Given the description of an element on the screen output the (x, y) to click on. 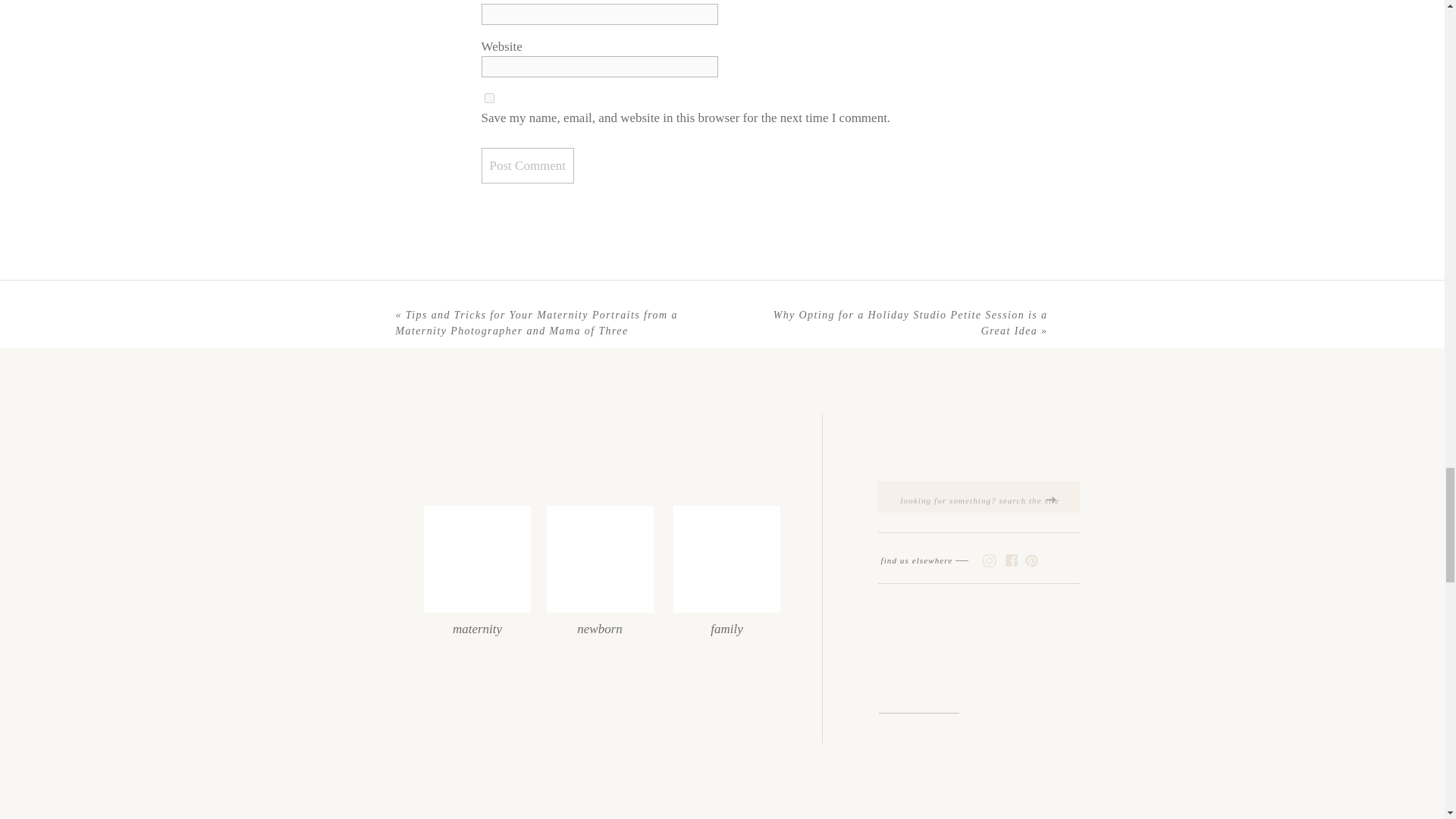
newborn (599, 623)
Instagram-color Created with Sketch. (988, 560)
yes (488, 97)
Facebook Copy-color Created with Sketch. (1010, 560)
maternity (477, 623)
Post Comment (526, 165)
Instagram-color Created with Sketch. (988, 560)
Post Comment (526, 165)
Facebook Copy-color Created with Sketch. (1010, 560)
family (726, 623)
